Given the description of an element on the screen output the (x, y) to click on. 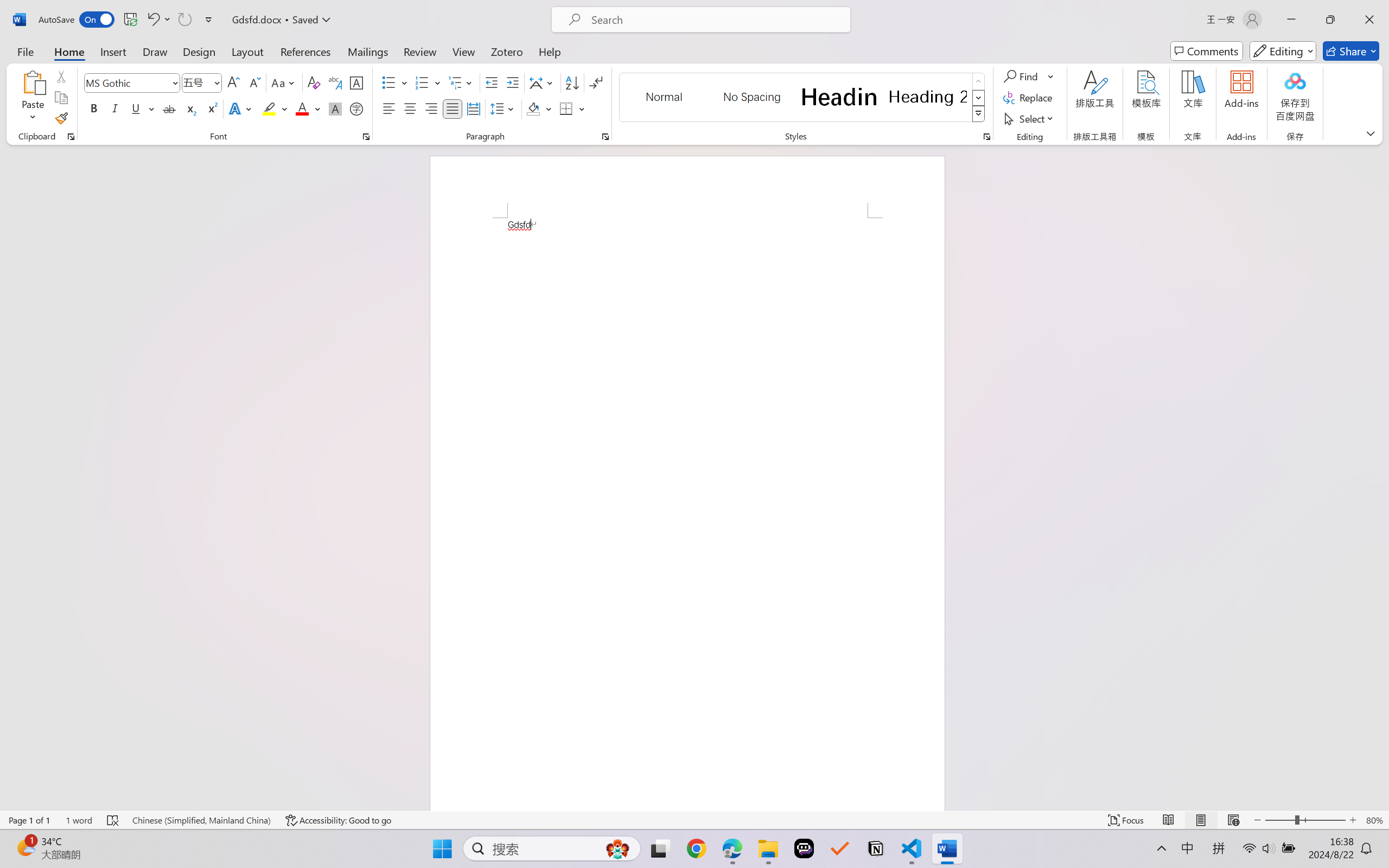
Language Chinese (Simplified, Mainland China) (201, 819)
